Given the description of an element on the screen output the (x, y) to click on. 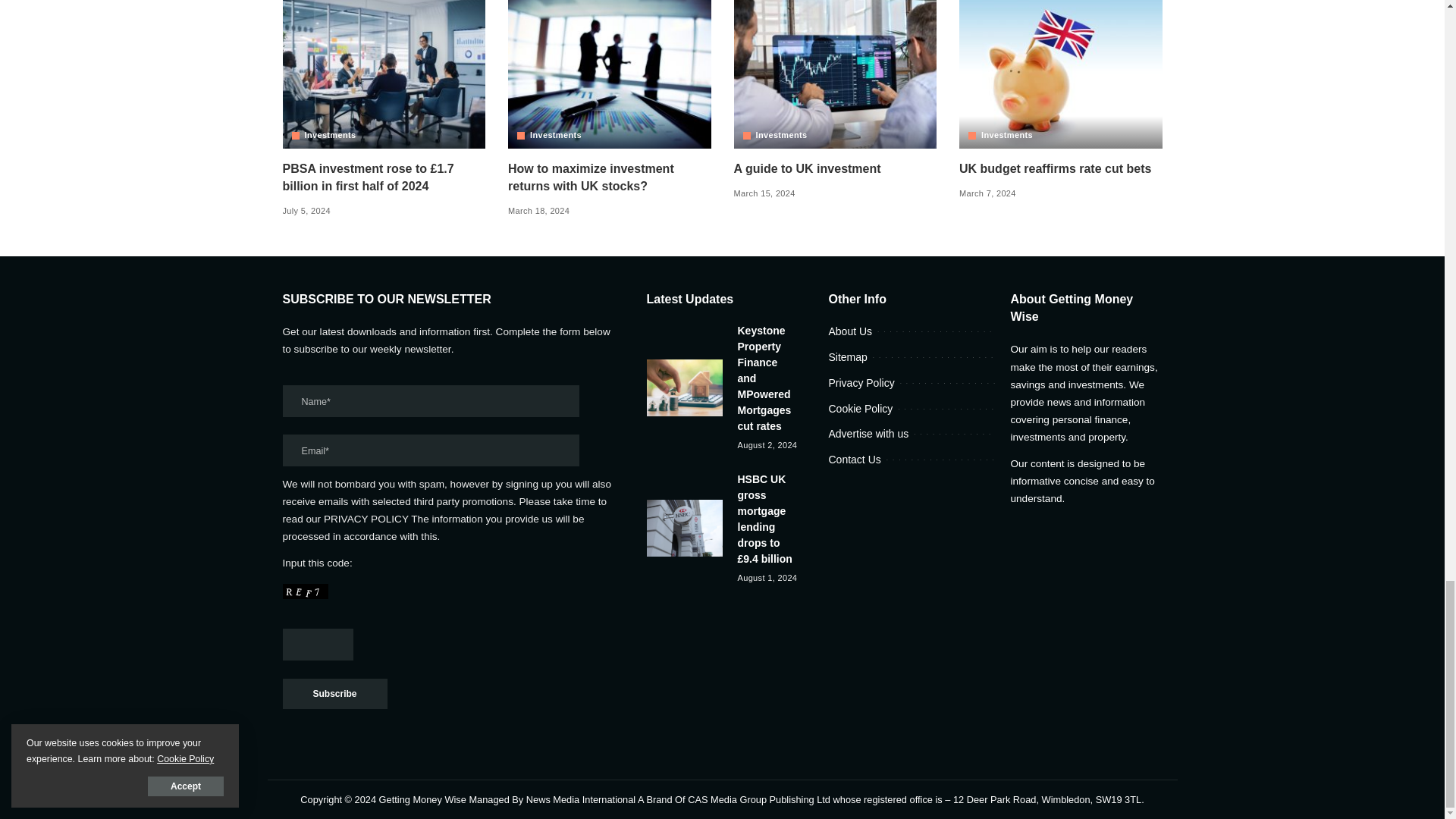
Subscribe (334, 693)
